Given the description of an element on the screen output the (x, y) to click on. 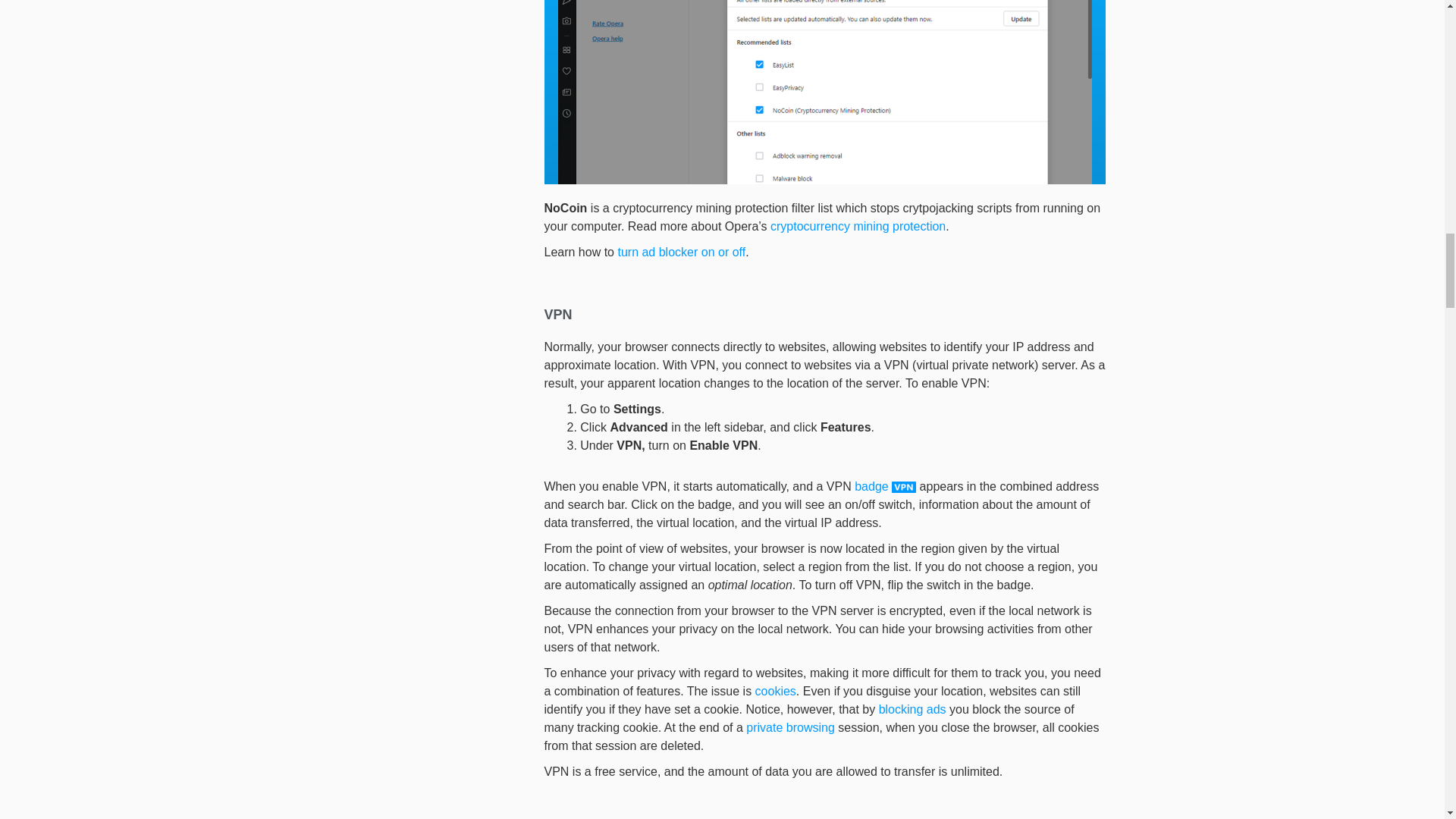
private browsing (789, 727)
cookies (775, 690)
cryptocurrency mining protection (857, 226)
blocking ads (912, 708)
turn ad blocker on or off (681, 251)
badge (871, 486)
